Given the description of an element on the screen output the (x, y) to click on. 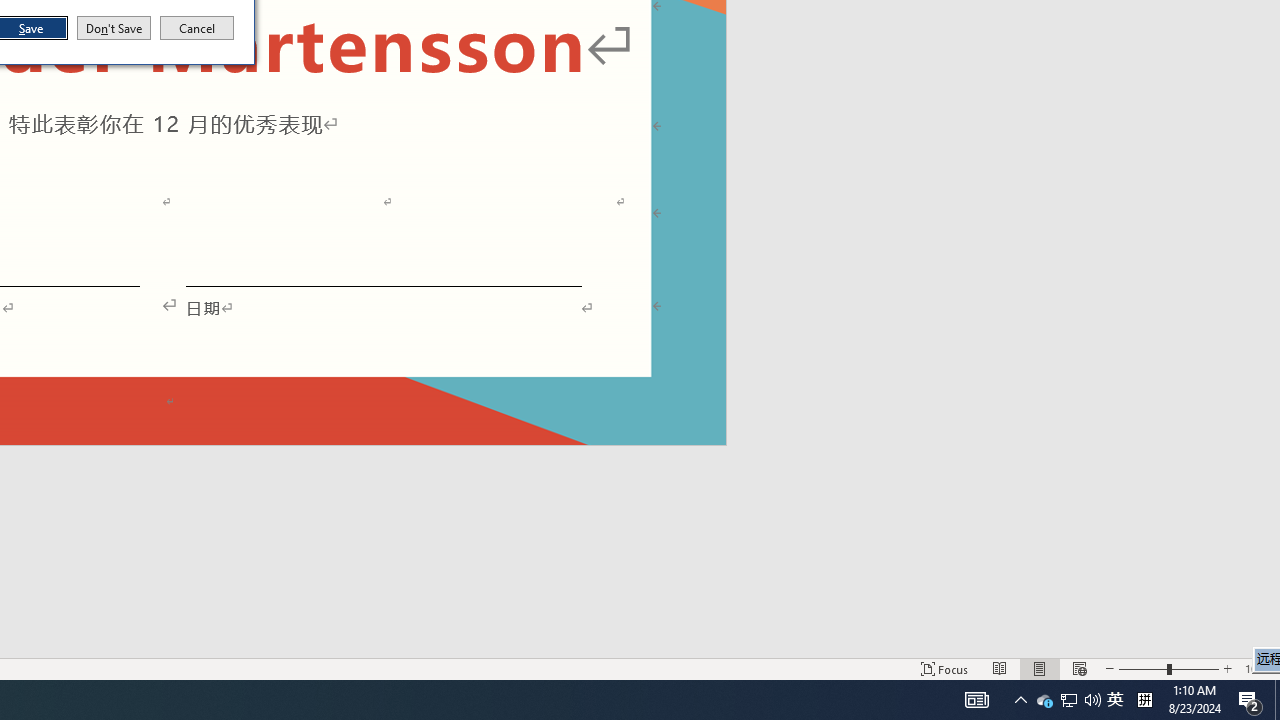
Zoom In (1227, 668)
Q2790: 100% (1092, 699)
Zoom 100% (1069, 699)
Focus  (1258, 668)
AutomationID: 4105 (944, 668)
Tray Input Indicator - Chinese (Simplified, China) (976, 699)
Cancel (1115, 699)
Action Center, 2 new notifications (1144, 699)
Web Layout (197, 27)
Notification Chevron (1250, 699)
Read Mode (1079, 668)
User Promoted Notification Area (1020, 699)
